Given the description of an element on the screen output the (x, y) to click on. 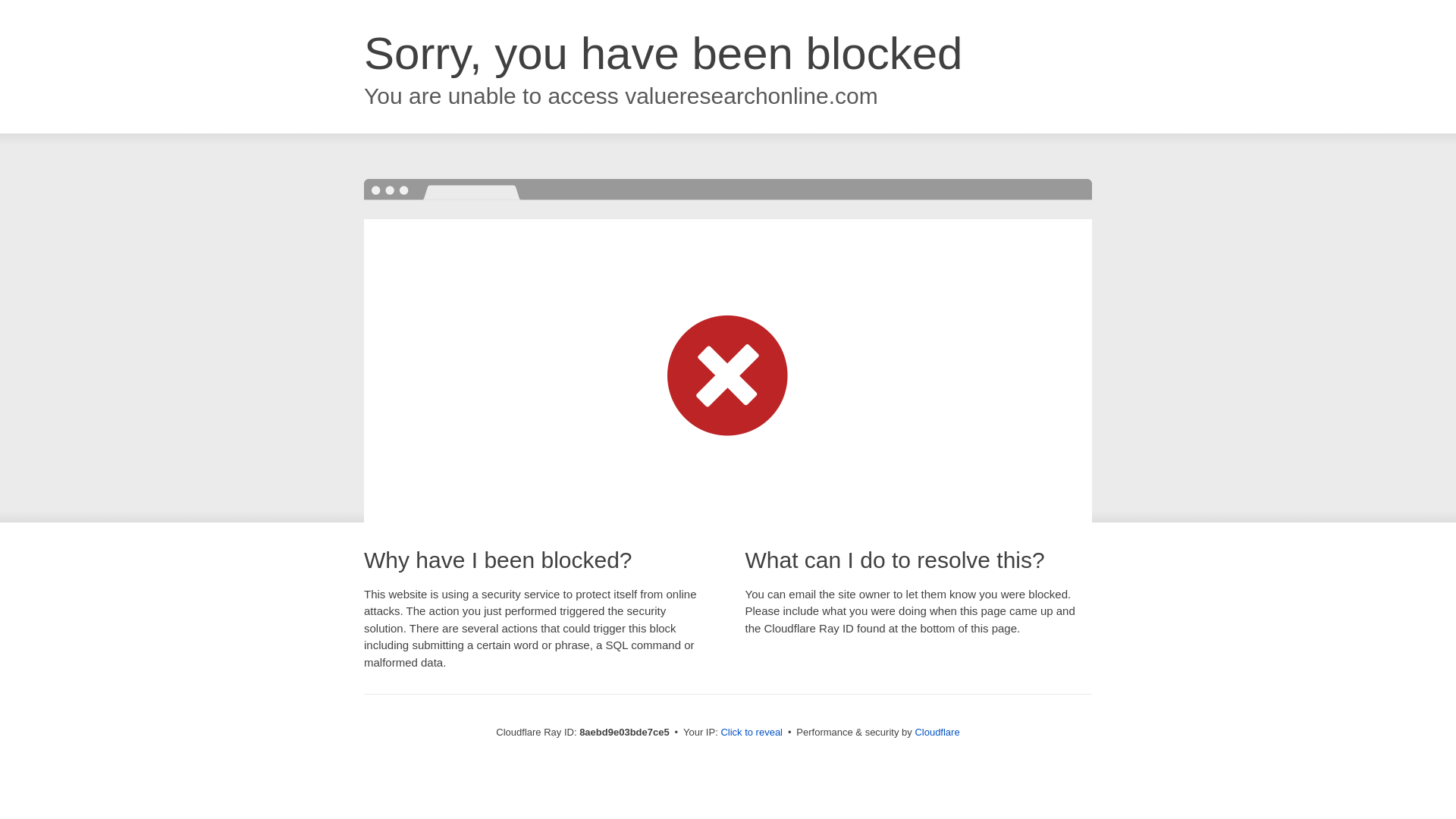
Click to reveal (751, 732)
Cloudflare (936, 731)
